Given the description of an element on the screen output the (x, y) to click on. 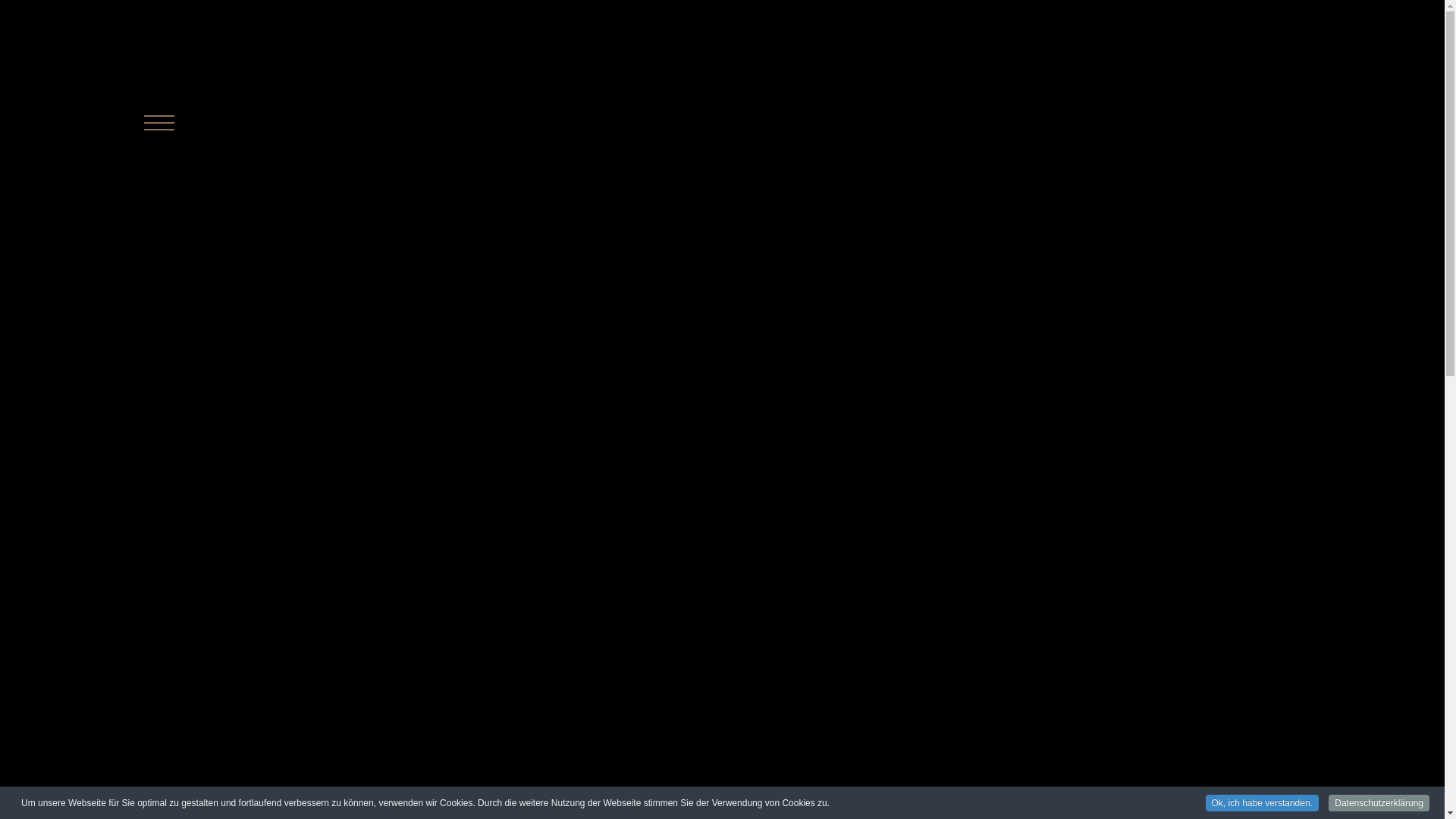
Ok, ich habe verstanden. Element type: text (1261, 802)
